Given the description of an element on the screen output the (x, y) to click on. 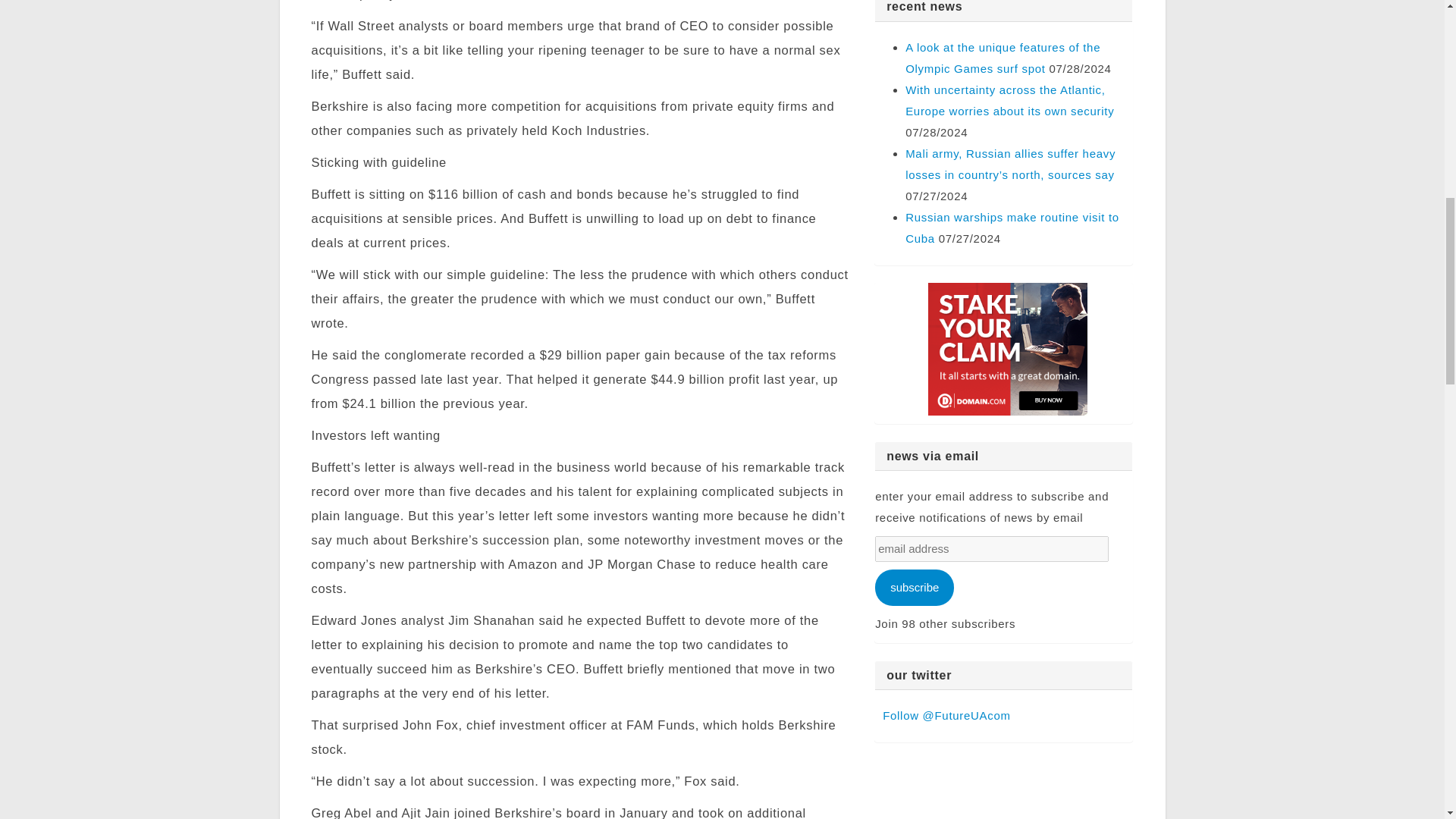
A look at the unique features of the Olympic Games surf spot (1002, 57)
